Given the description of an element on the screen output the (x, y) to click on. 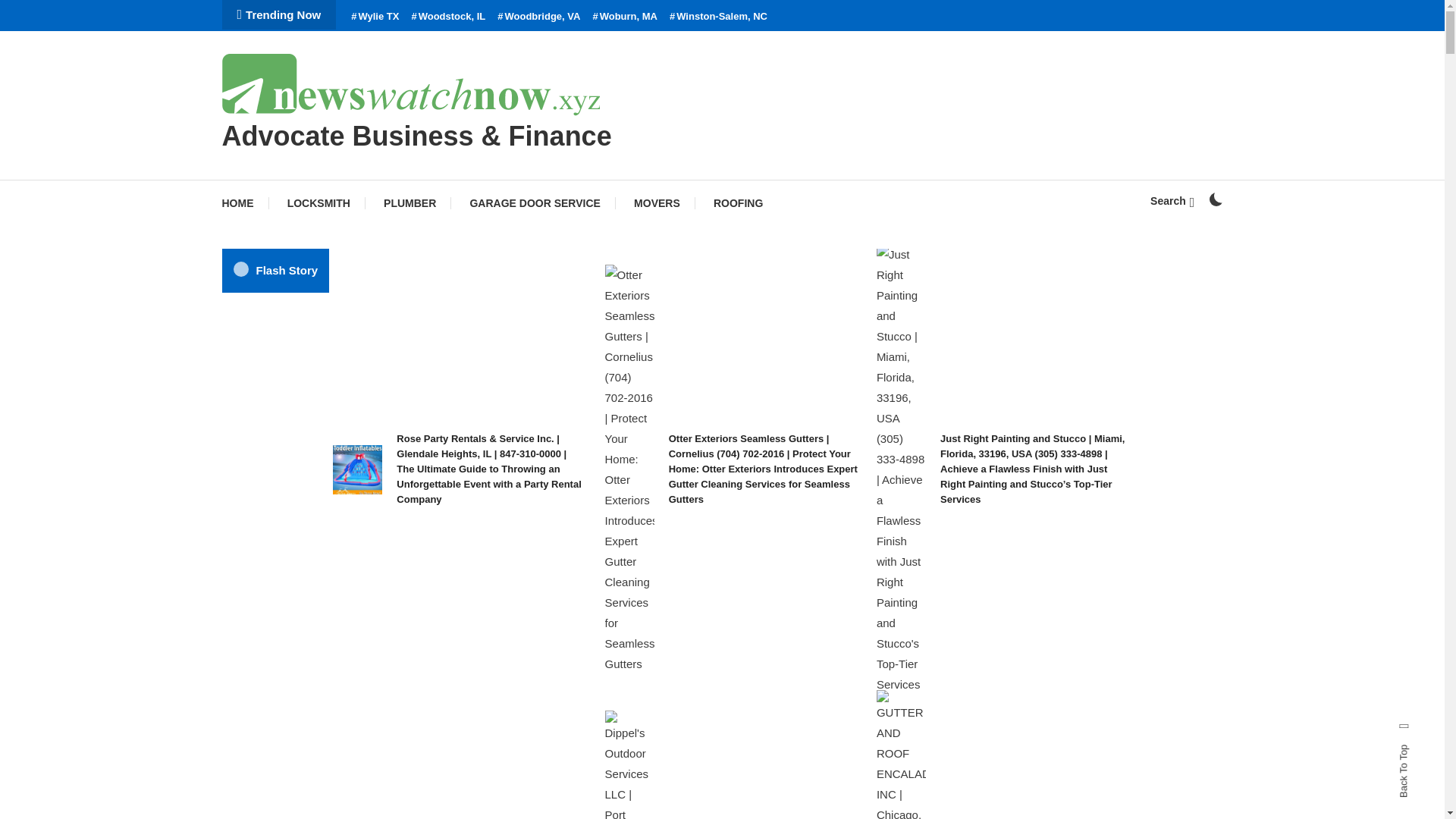
Wylie TX (374, 16)
Woburn, MA (625, 16)
Woodbridge, VA (538, 16)
PLUMBER (409, 203)
Winston-Salem, NC (718, 16)
Woodstock, IL (447, 16)
on (1215, 199)
Search (1171, 200)
ROOFING (737, 203)
LOCKSMITH (318, 203)
